Given the description of an element on the screen output the (x, y) to click on. 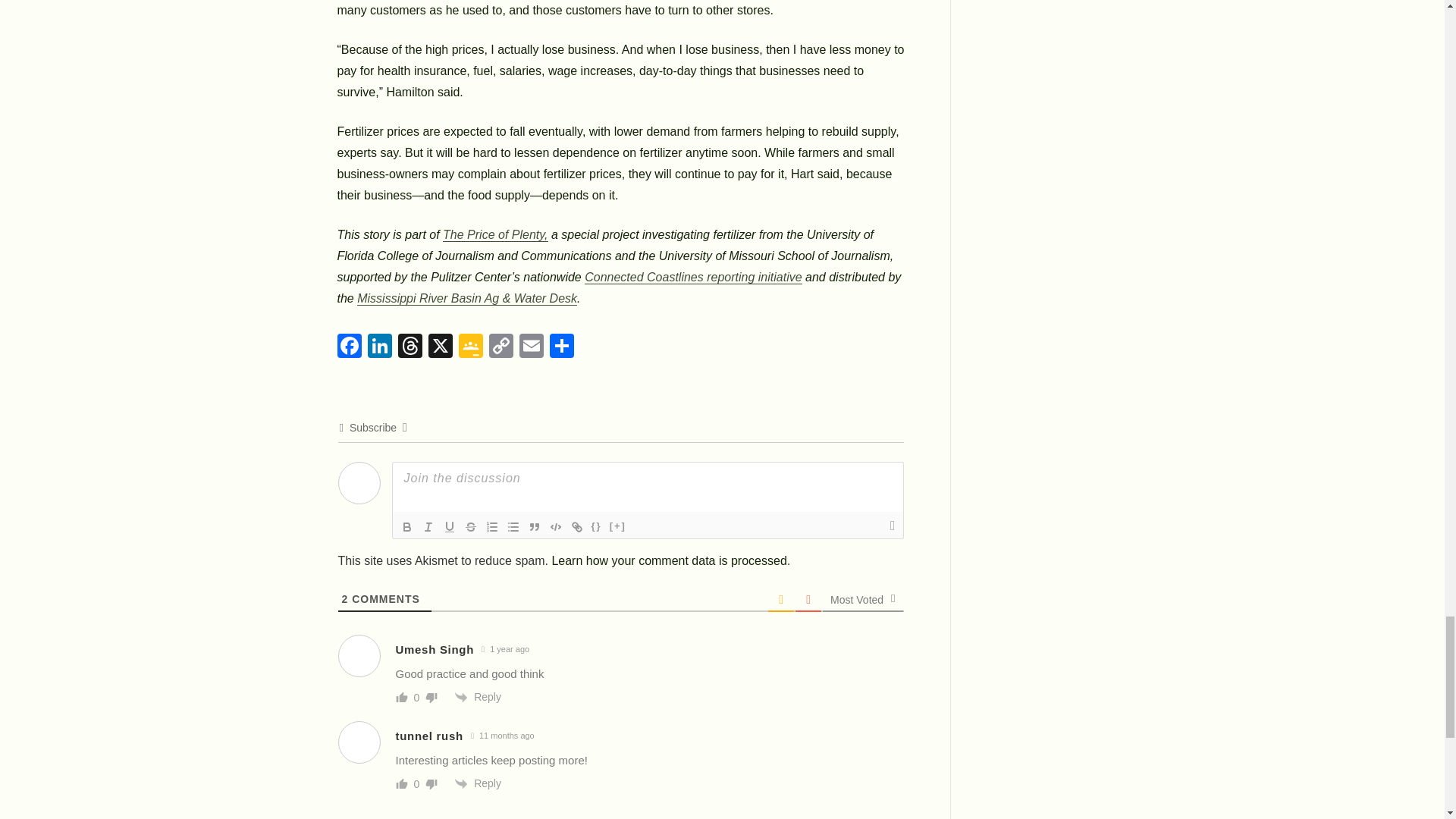
Threads (409, 345)
Copy Link (499, 345)
Facebook (350, 345)
LinkedIn (379, 345)
Italic (427, 526)
Google Classroom (469, 345)
Email (530, 345)
X (439, 345)
Underline (449, 526)
Bold (406, 526)
